Given the description of an element on the screen output the (x, y) to click on. 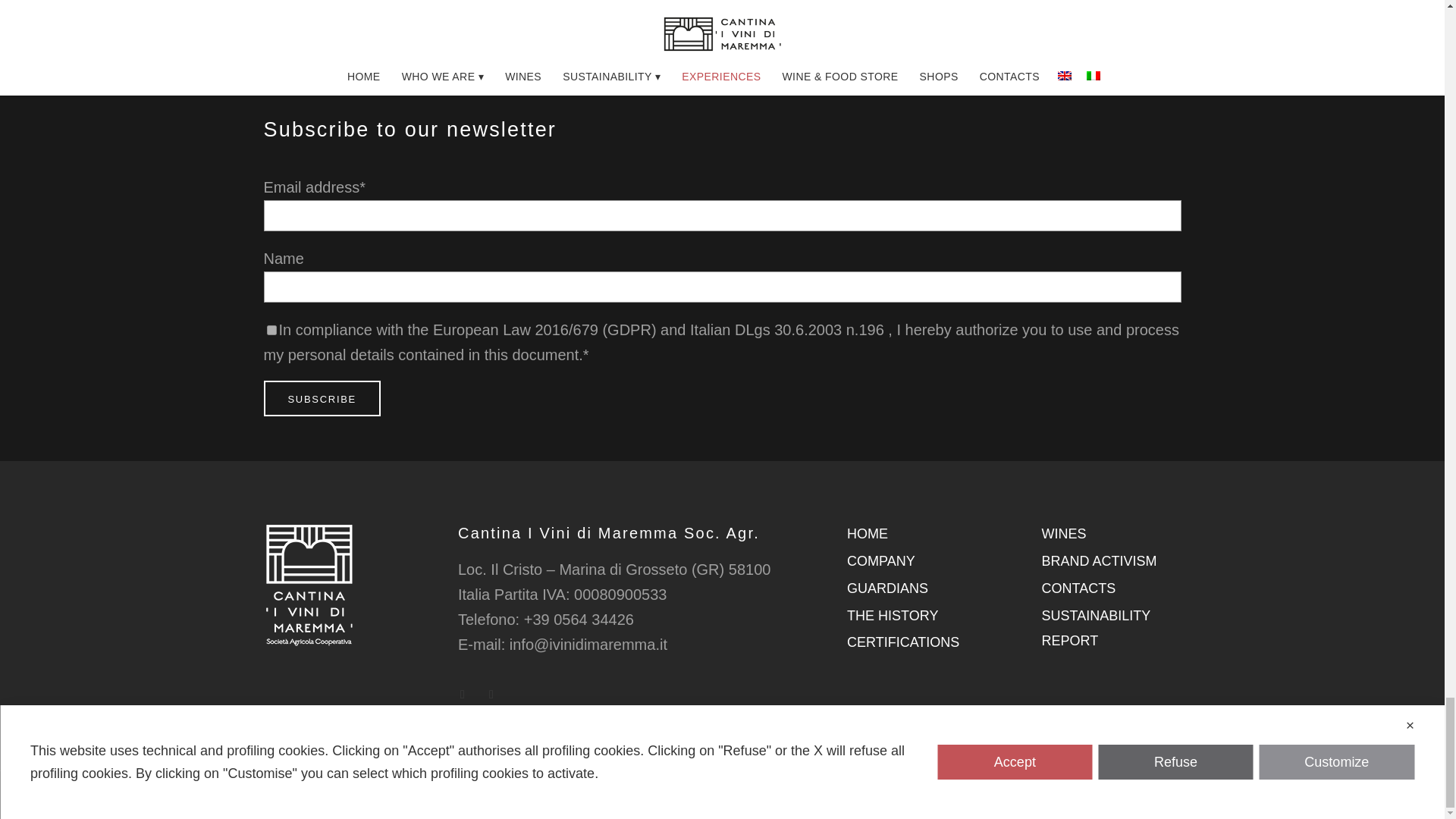
SUSTAINABILITY REPORT (1096, 628)
WINES (1064, 533)
COMPANY (881, 560)
THE HISTORY (892, 615)
Subscribe (321, 398)
GUARDIANS (887, 588)
CONTACTS (1079, 588)
HOME (867, 533)
BRAND ACTIVISM (1099, 560)
on (271, 329)
Subscribe (321, 398)
CERTIFICATIONS (903, 642)
